Given the description of an element on the screen output the (x, y) to click on. 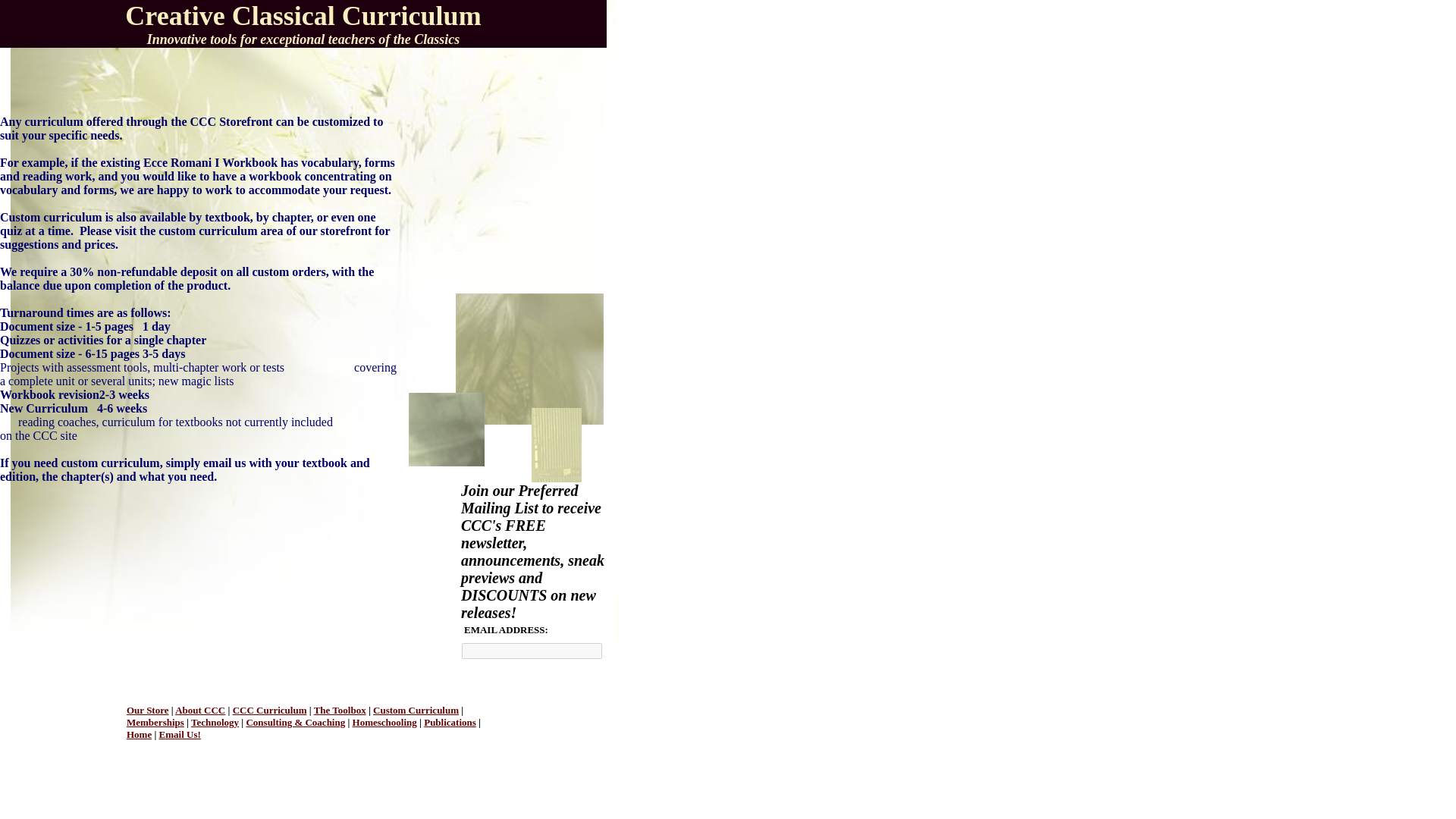
Email Us! (179, 734)
About CCC (199, 709)
Homeschooling (384, 722)
Publications (449, 722)
The Toolbox (340, 709)
Our Store (147, 709)
Technology (214, 722)
Home (138, 734)
Memberships (155, 722)
Custom Curriculum (415, 709)
